Given the description of an element on the screen output the (x, y) to click on. 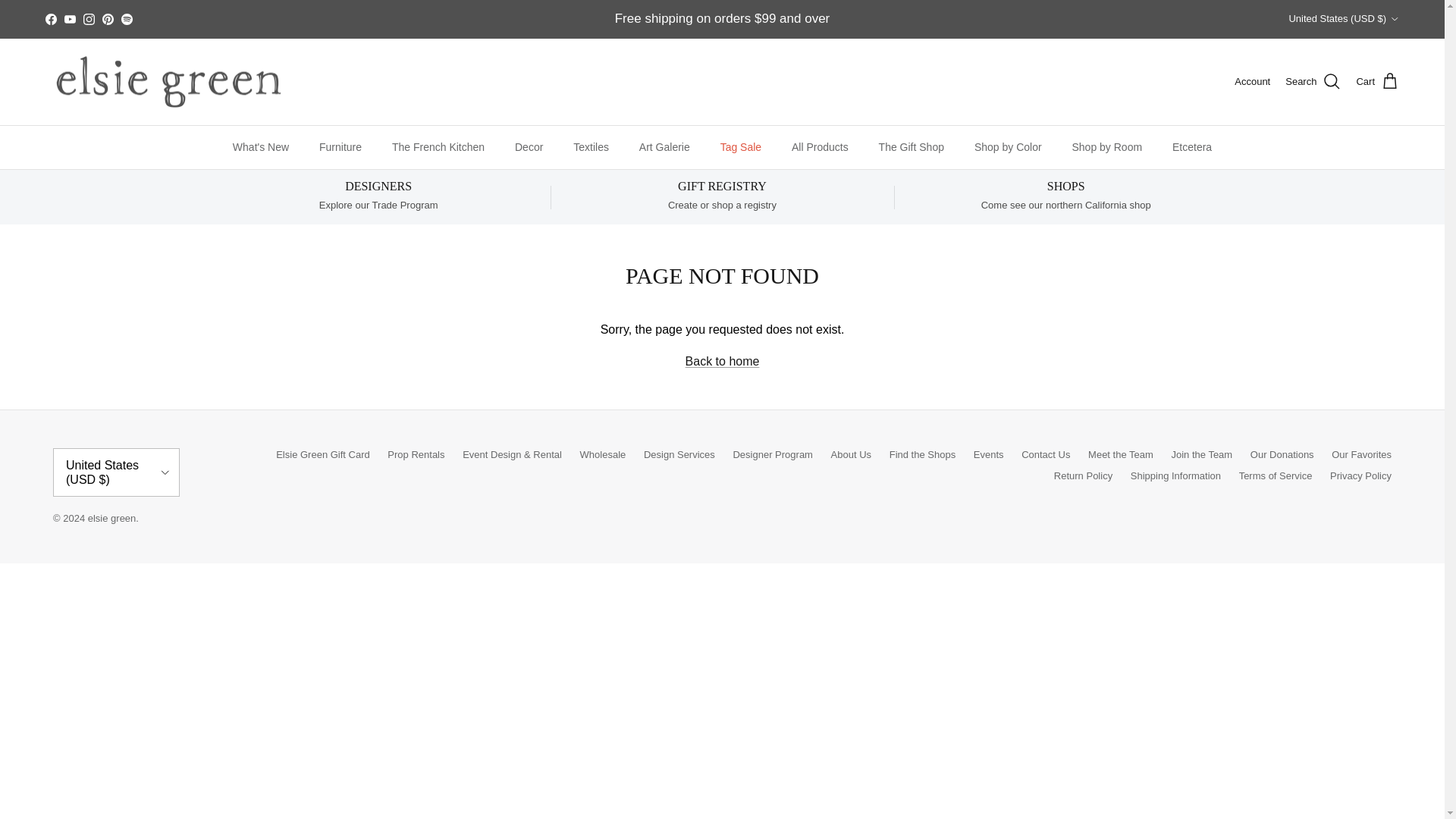
elsie green on Instagram (88, 19)
Instagram (88, 19)
Search (1312, 81)
Cart (1377, 81)
elsie green (168, 82)
Facebook (50, 19)
Spotify (126, 19)
elsie green on Facebook (50, 19)
Pinterest (107, 19)
Furniture (340, 147)
